Given the description of an element on the screen output the (x, y) to click on. 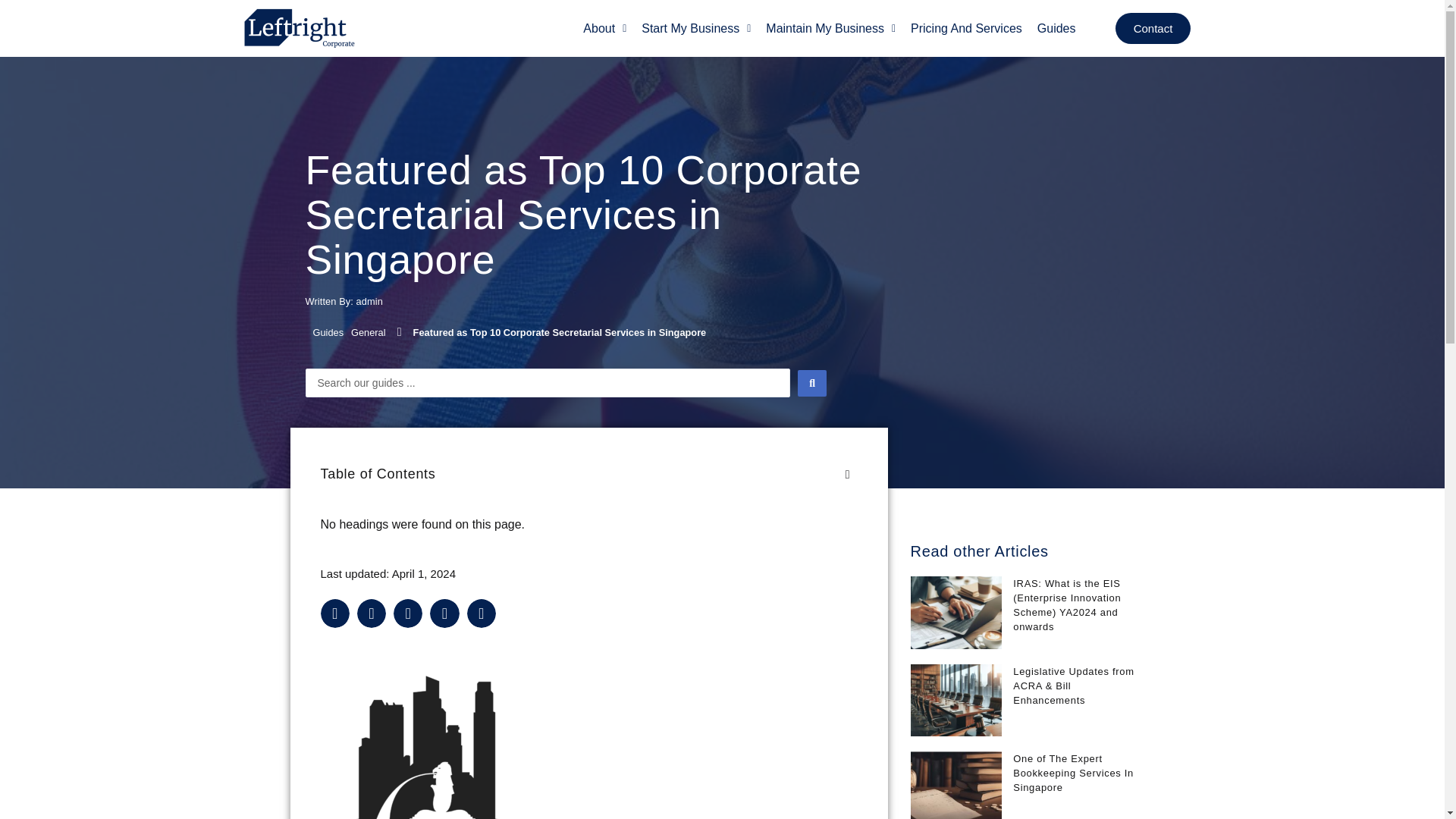
Leftirght Mobile Logo (299, 28)
Start My Business (695, 28)
About (604, 28)
